Given the description of an element on the screen output the (x, y) to click on. 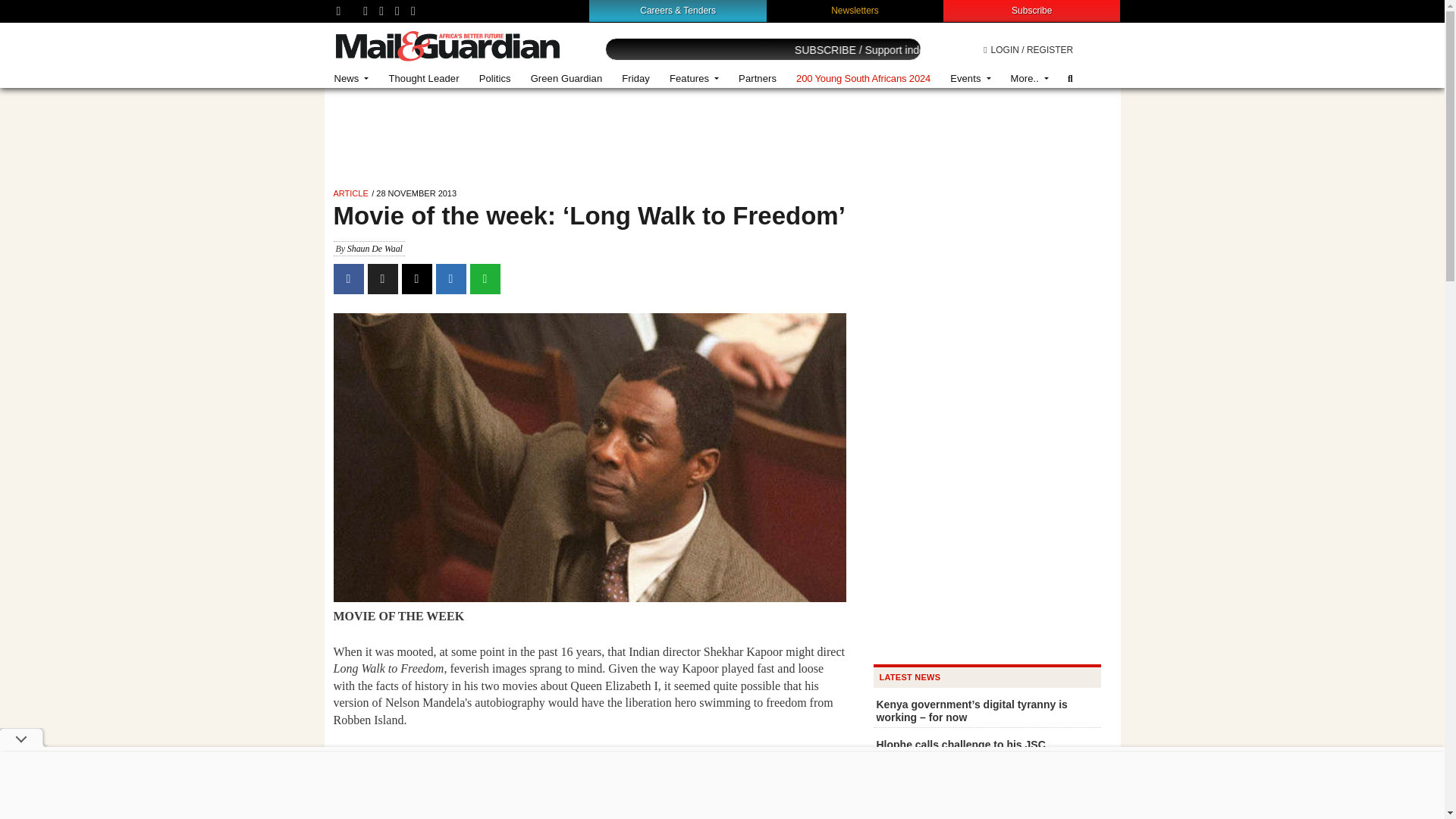
Subscribe (1031, 9)
Politics (494, 78)
Thought Leader (423, 78)
Features (694, 78)
Friday (635, 78)
News (351, 78)
News (351, 78)
Newsletters (855, 9)
Green Guardian (566, 78)
